Given the description of an element on the screen output the (x, y) to click on. 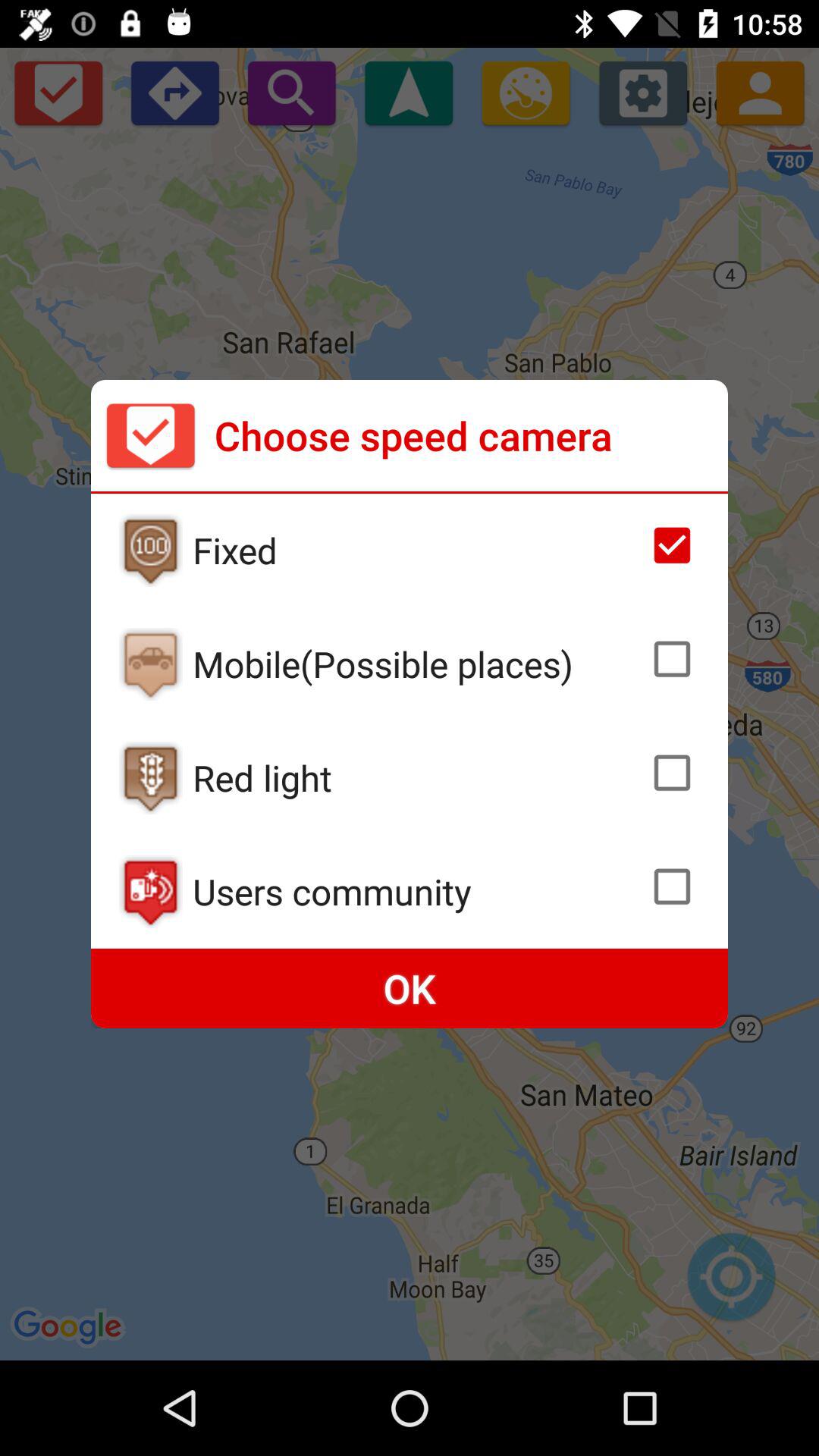
switch fixed option (150, 550)
